Given the description of an element on the screen output the (x, y) to click on. 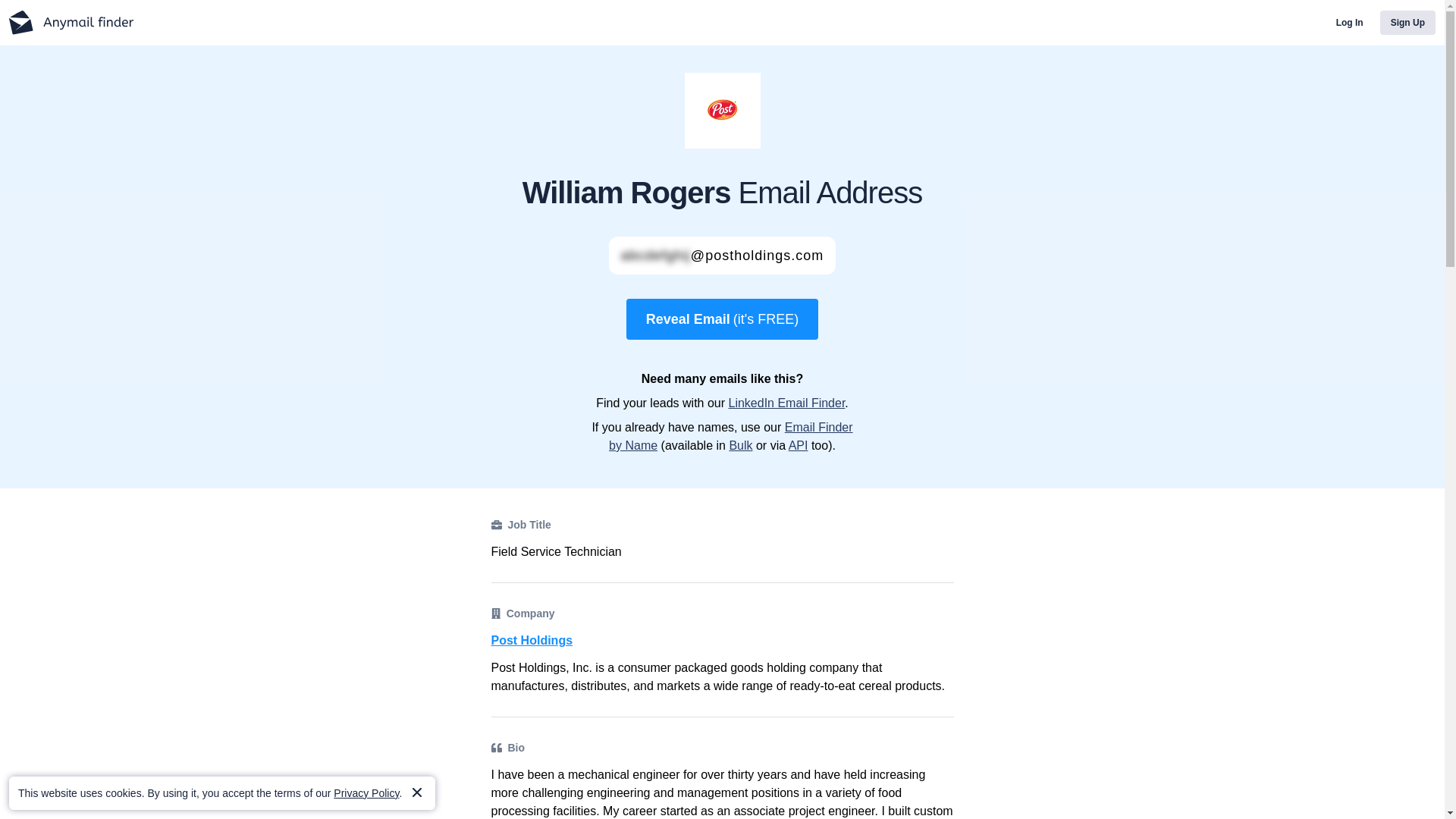
Bulk (740, 445)
Log In (1349, 22)
Post Holdings (722, 640)
Email Finder by Name (730, 436)
LinkedIn Email Finder (786, 402)
Sign Up (1407, 22)
API (798, 445)
